Given the description of an element on the screen output the (x, y) to click on. 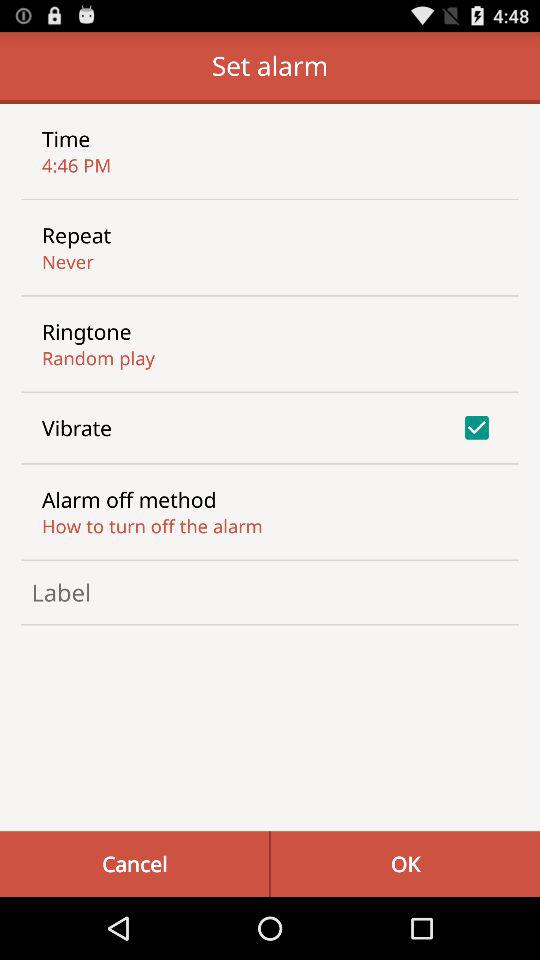
turn off app below never item (86, 331)
